Given the description of an element on the screen output the (x, y) to click on. 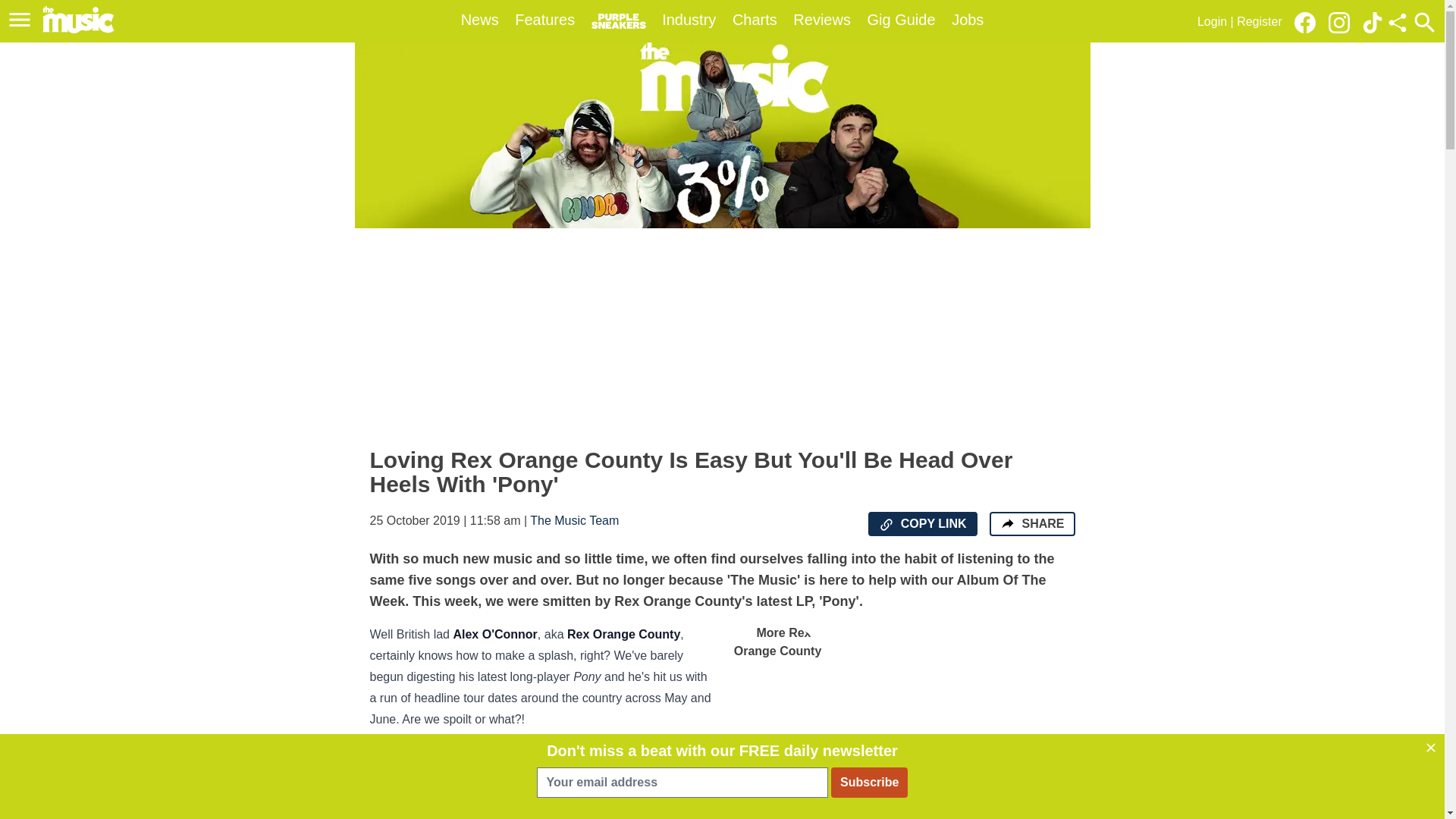
Link to our TikTok (1372, 22)
Open the main menu (22, 19)
News (480, 19)
Gig Guide (901, 19)
Features (545, 19)
Link to our Facebook (1309, 21)
Copy the page URL COPY LINK (921, 523)
Link to our TikTok (1372, 21)
Login (1211, 21)
Link to our Instagram (1338, 22)
